Given the description of an element on the screen output the (x, y) to click on. 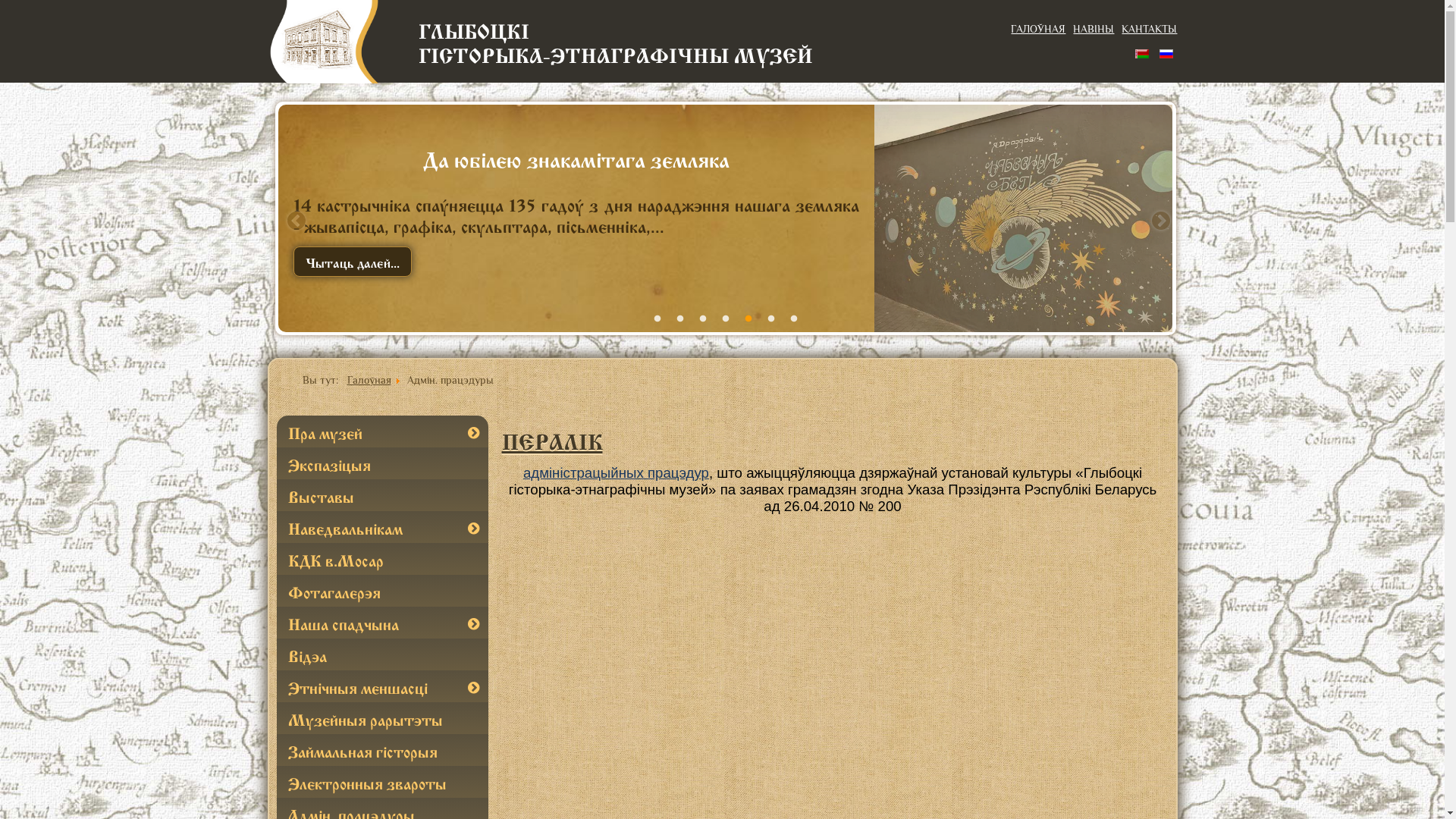
5 Element type: text (747, 318)
4 Element type: text (724, 318)
Previous Element type: text (292, 217)
Russian (Russia) Element type: hover (1166, 52)
6 Element type: text (770, 318)
7 Element type: text (792, 318)
1 Element type: text (656, 318)
3 Element type: text (701, 318)
Next Element type: text (1156, 217)
2 Element type: text (679, 318)
Belarusian (be-BY) Element type: hover (1141, 52)
